Given the description of an element on the screen output the (x, y) to click on. 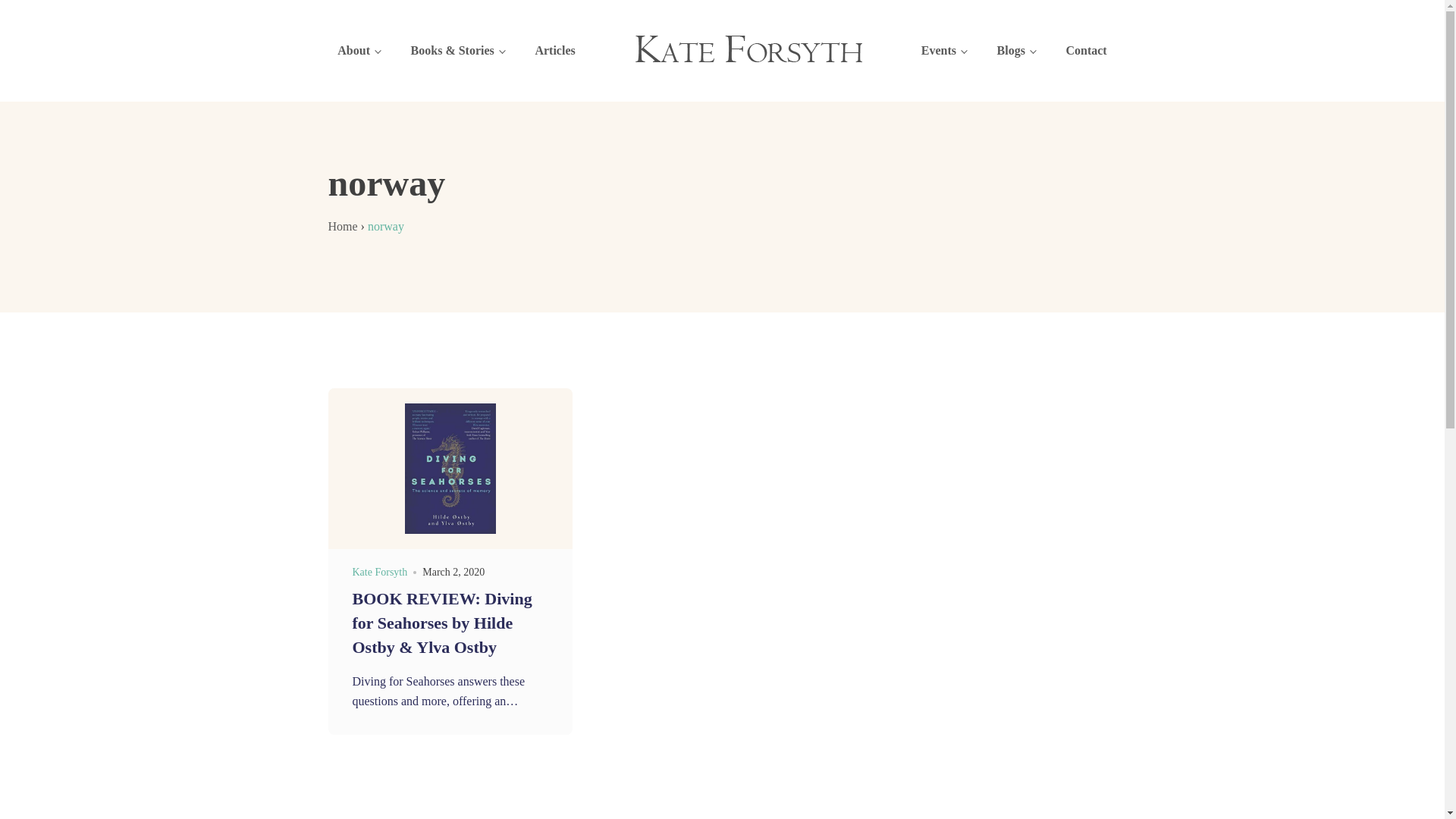
About Element type: text (358, 50)
Blogs Element type: text (1016, 50)
Articles Element type: text (554, 50)
Events Element type: text (944, 50)
Books & Stories Element type: text (457, 50)
Contact Element type: text (1085, 50)
Home Element type: text (342, 225)
Kate Forsyth Element type: text (379, 571)
